Given the description of an element on the screen output the (x, y) to click on. 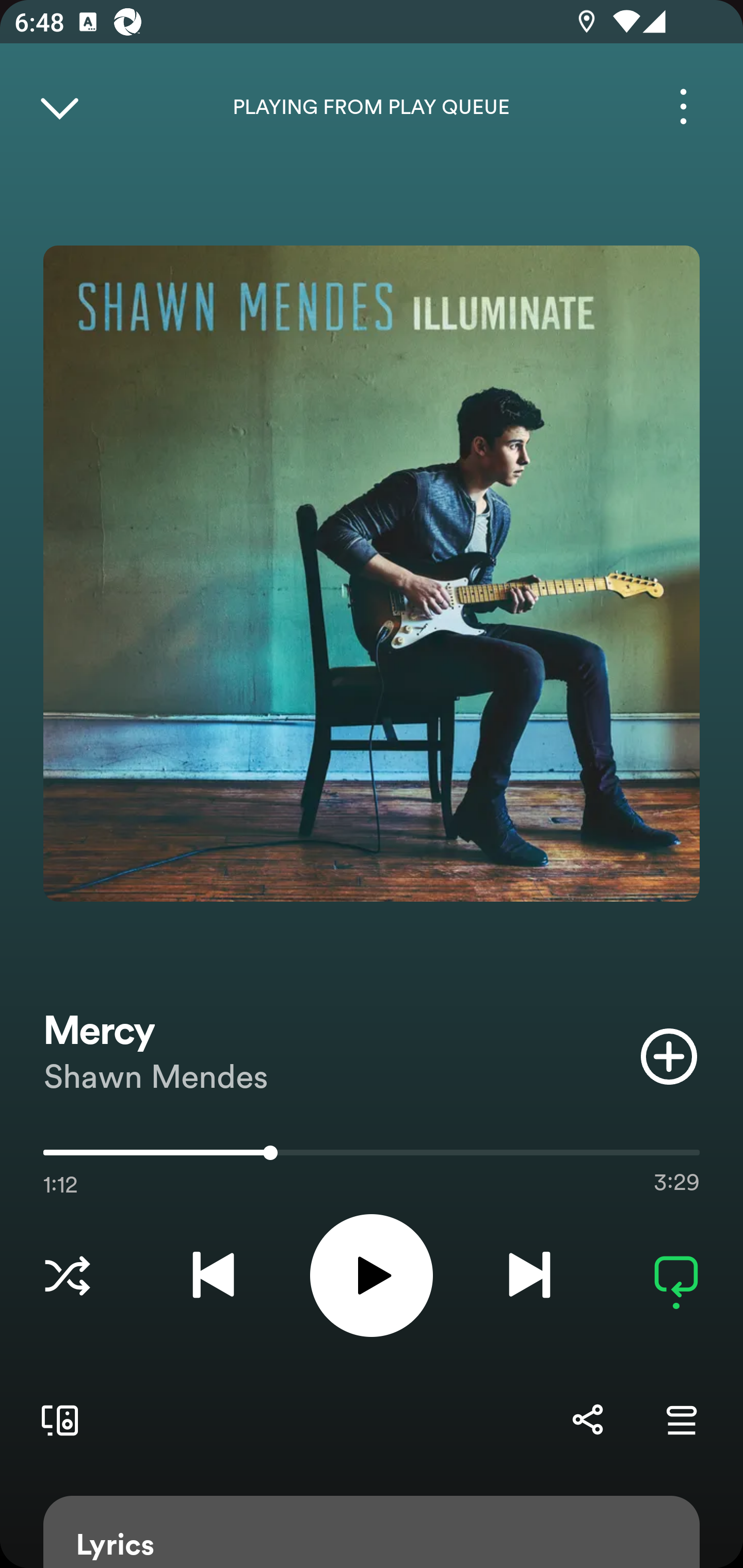
Close (59, 106)
More options for song Mercy (683, 106)
PLAYING FROM PLAY QUEUE (371, 107)
Add item (669, 1056)
1:12 3:29 72223.0 Use volume keys to adjust (371, 1157)
Play (371, 1275)
Previous (212, 1275)
Next (529, 1275)
Choose a Listening Mode (66, 1275)
Repeat (676, 1275)
Share (587, 1419)
Go to Queue (681, 1419)
Connect to a device. Opens the devices menu (55, 1419)
Lyrics (371, 1531)
